Given the description of an element on the screen output the (x, y) to click on. 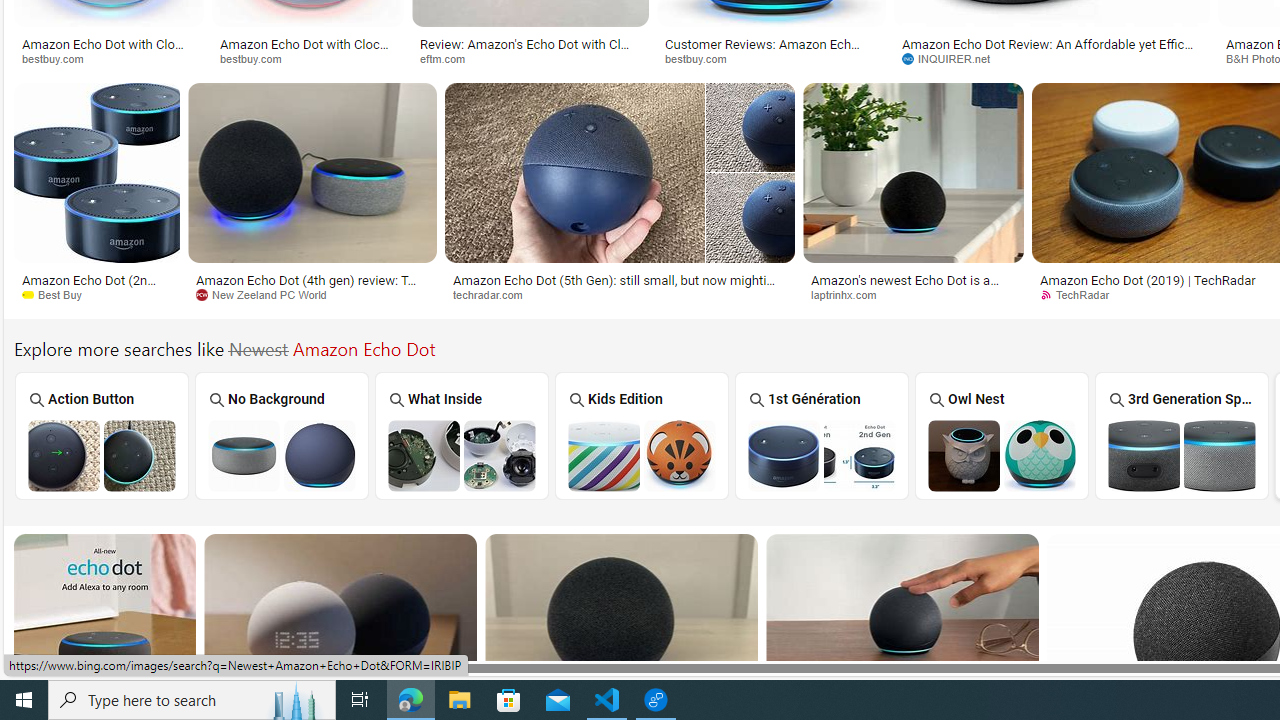
techradar.com (620, 295)
Owl Nest (1002, 435)
Amazon Echo Dot Owl and Nest Owl Nest (1002, 435)
Amazon Echo Dot Photo No Background (281, 455)
techradar.com (495, 294)
New Zeeland PC World (311, 295)
Amazon Echo Dot (2019) | TechRadar (1147, 279)
Amazon Echo Dot Kids Edition Kids Edition (641, 435)
What Inside a Amazon Echo Dot What Inside (461, 435)
laptrinhx.com (913, 295)
Amazon Echo Dot 1st Generation (821, 455)
